Given the description of an element on the screen output the (x, y) to click on. 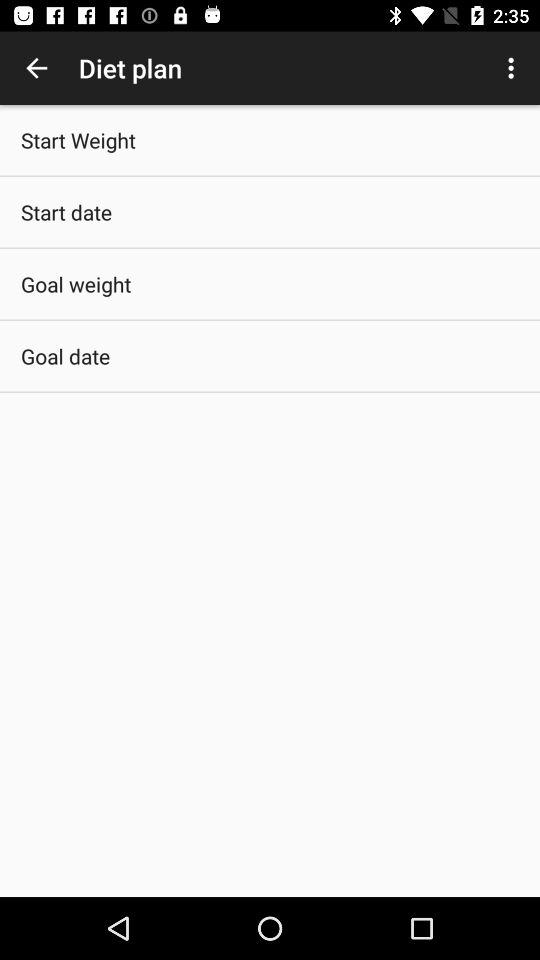
flip until the start weight (78, 139)
